Given the description of an element on the screen output the (x, y) to click on. 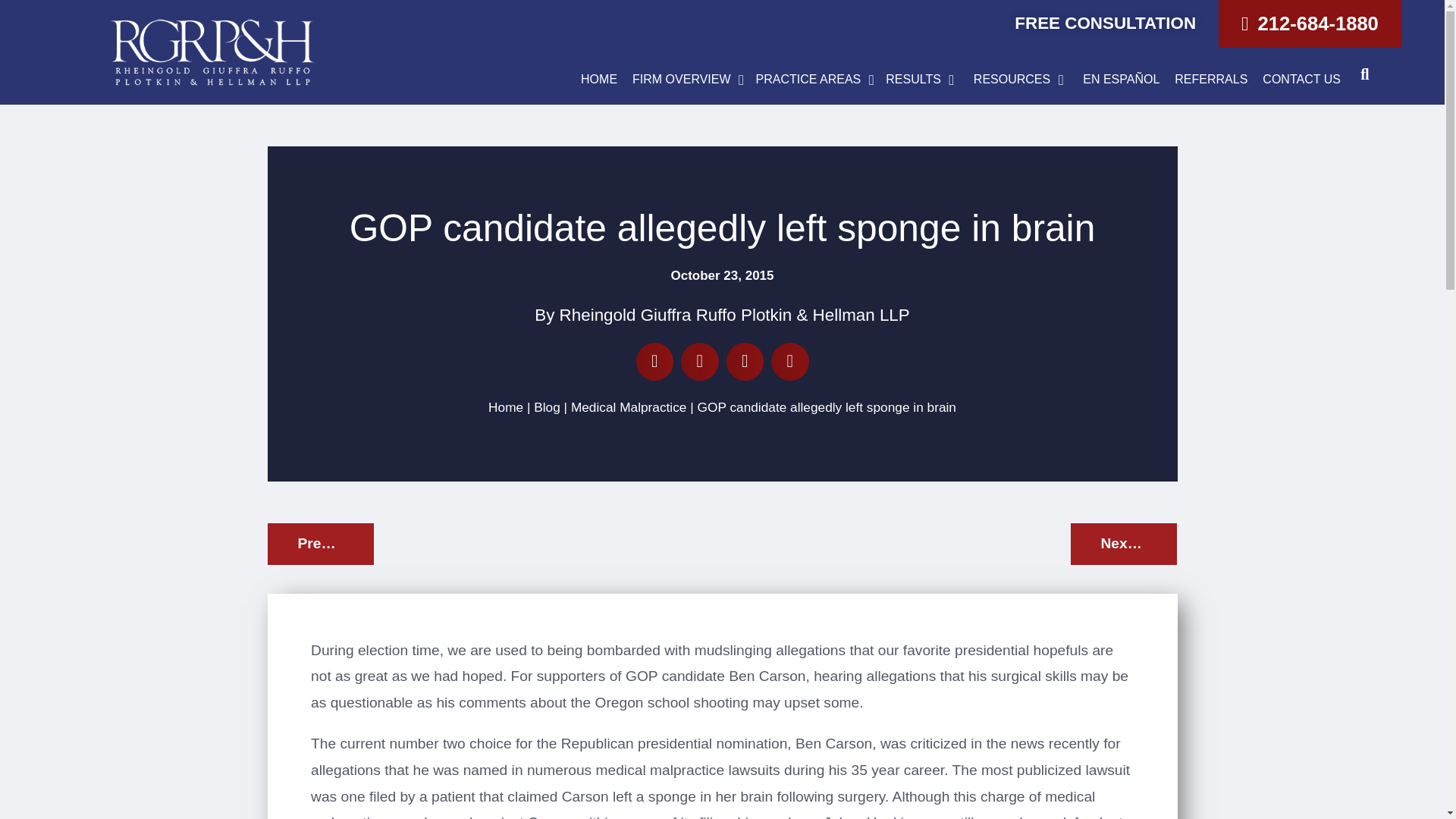
212-684-1880 (1309, 23)
FREE CONSULTATION (1104, 23)
FIRM OVERVIEW (680, 79)
HOME (598, 79)
PRACTICE AREAS (808, 79)
